Given the description of an element on the screen output the (x, y) to click on. 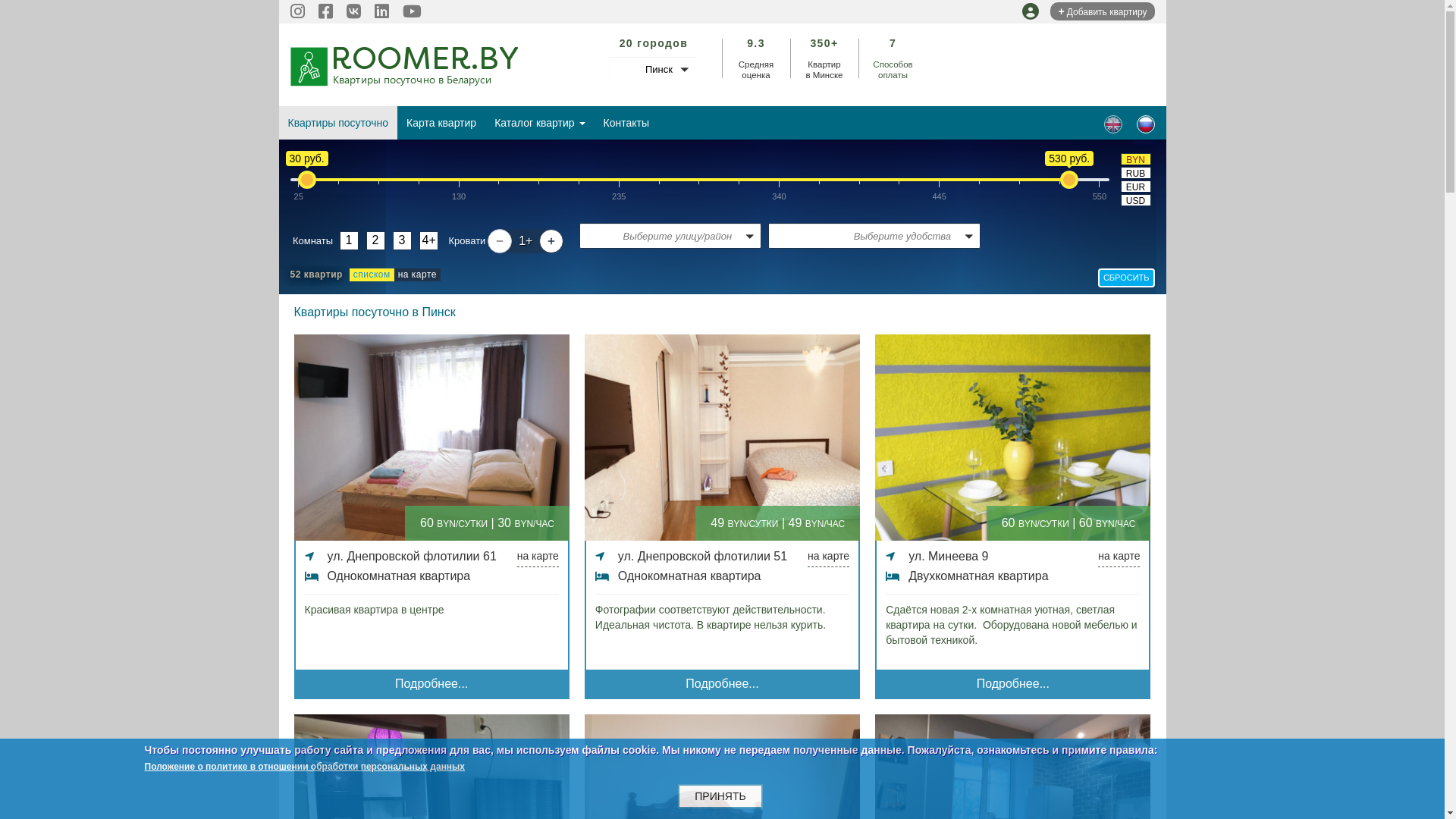
English Element type: hover (1113, 124)
